Given the description of an element on the screen output the (x, y) to click on. 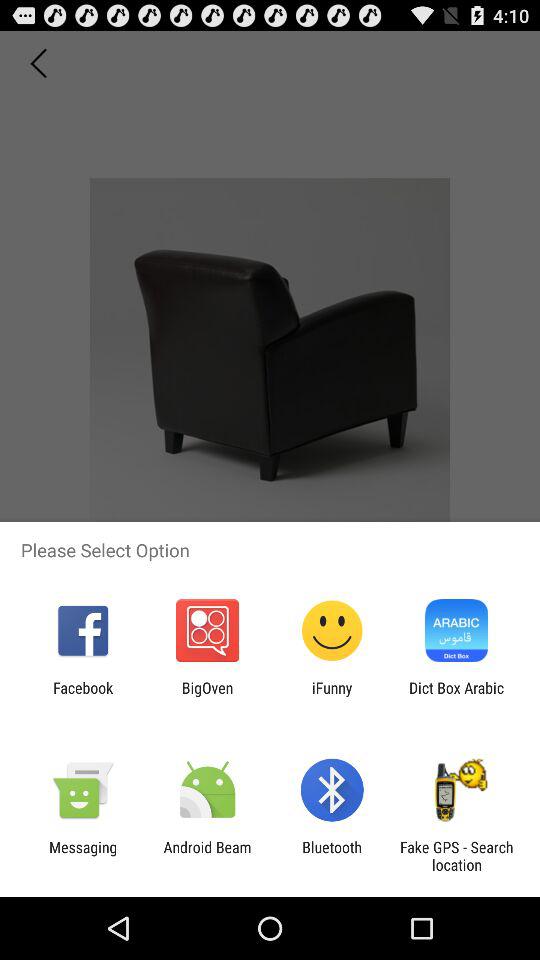
turn off the facebook app (83, 696)
